Given the description of an element on the screen output the (x, y) to click on. 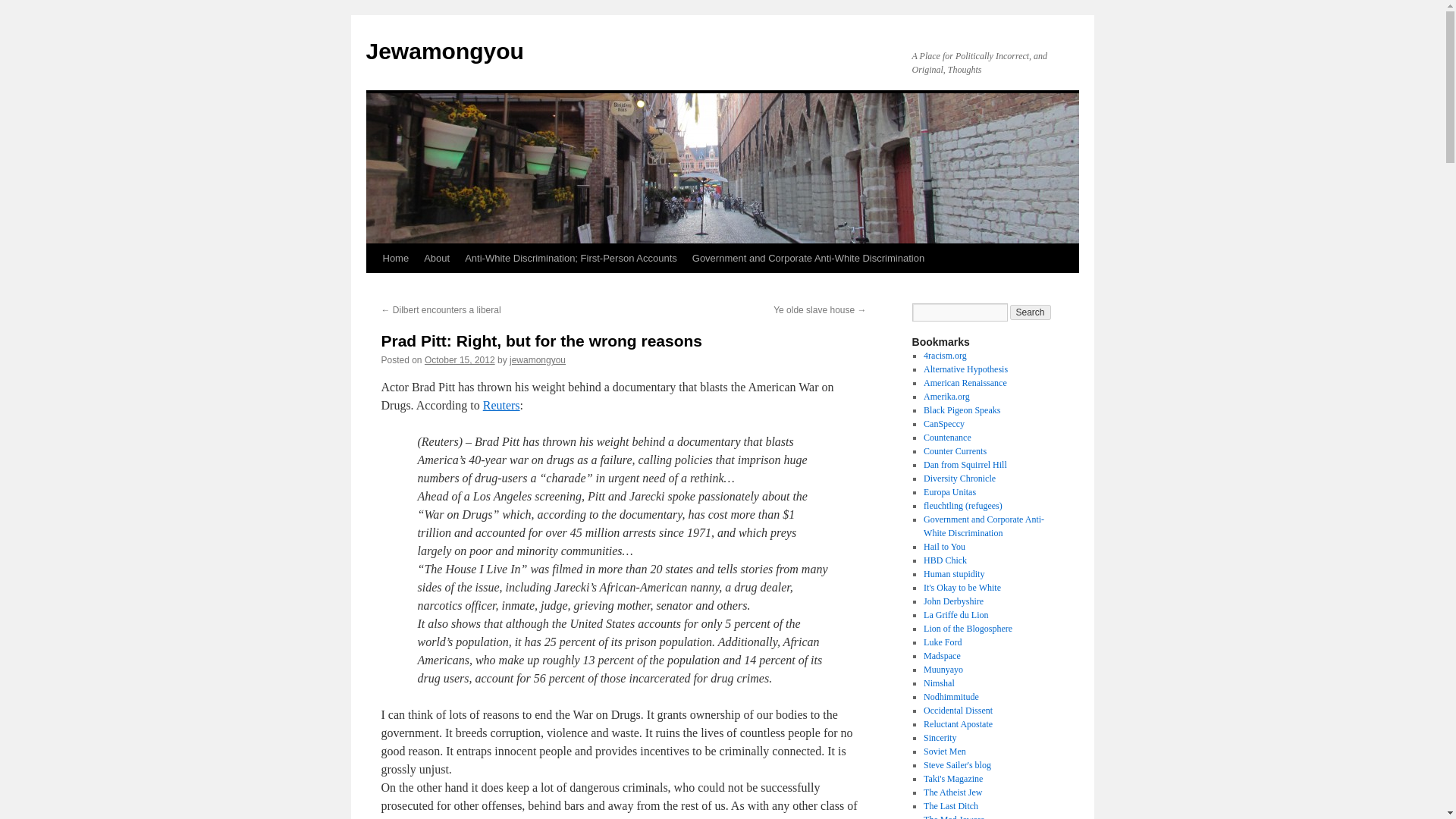
Reuters (501, 404)
Government and Corporate Anti-White Discrimination (807, 258)
4racism.org (944, 355)
American Renaissance (965, 382)
Amerika.org (946, 396)
About (436, 258)
Jewamongyou (443, 50)
View all posts by jewamongyou (537, 359)
Counter Currents (955, 450)
Anti-White Discrimination; First-Person Accounts (570, 258)
